Given the description of an element on the screen output the (x, y) to click on. 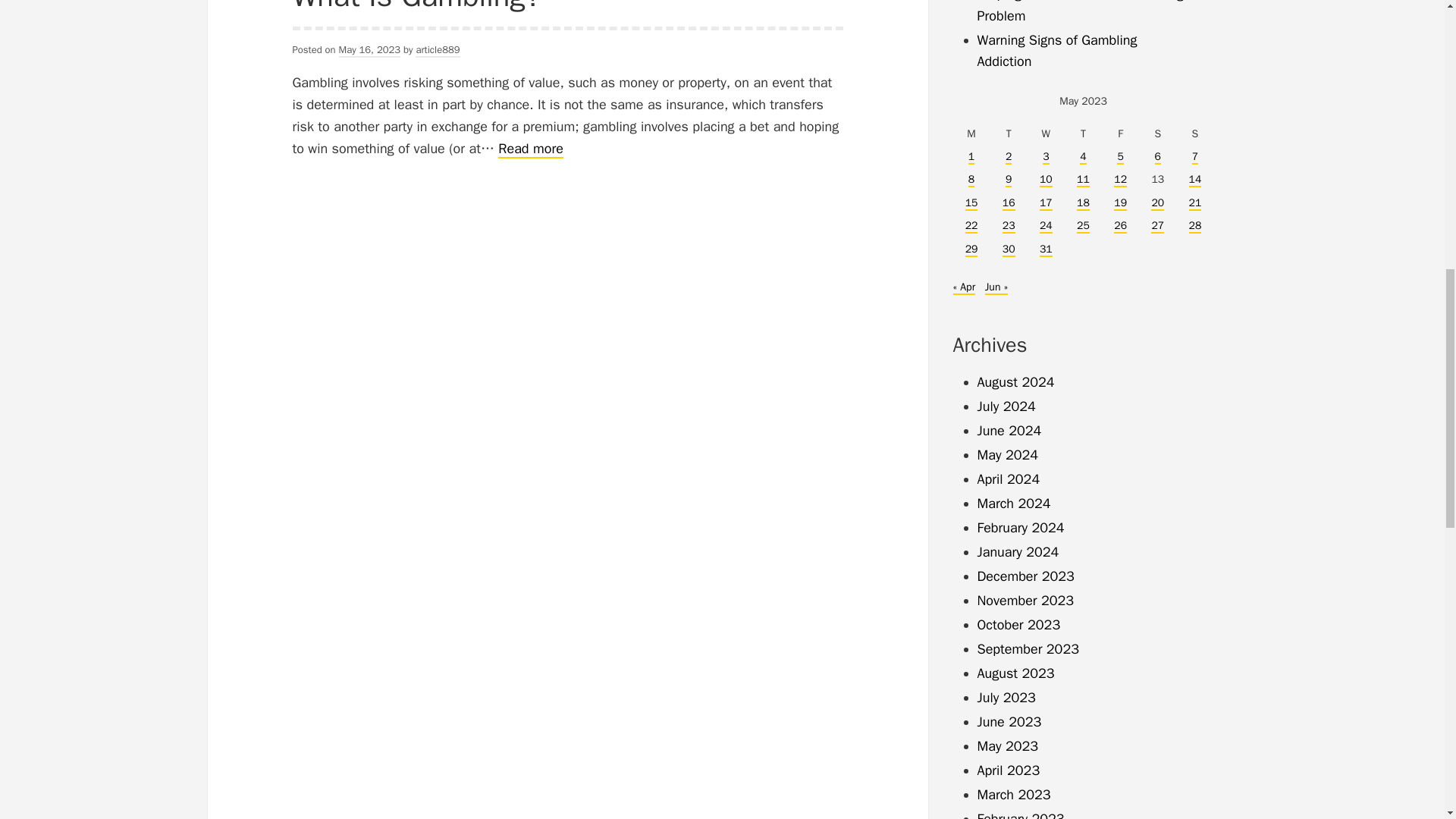
May 16, 2023 (370, 50)
Monday (530, 149)
Sunday (971, 133)
Helping Someone With a Gambling Problem (1194, 133)
Warning Signs of Gambling Addiction (1079, 12)
10 (1056, 50)
Saturday (1045, 179)
Tuesday (1157, 133)
What Is Gambling? (1008, 133)
Friday (416, 7)
Thursday (1120, 133)
Wednesday (1083, 133)
article889 (1045, 133)
